Given the description of an element on the screen output the (x, y) to click on. 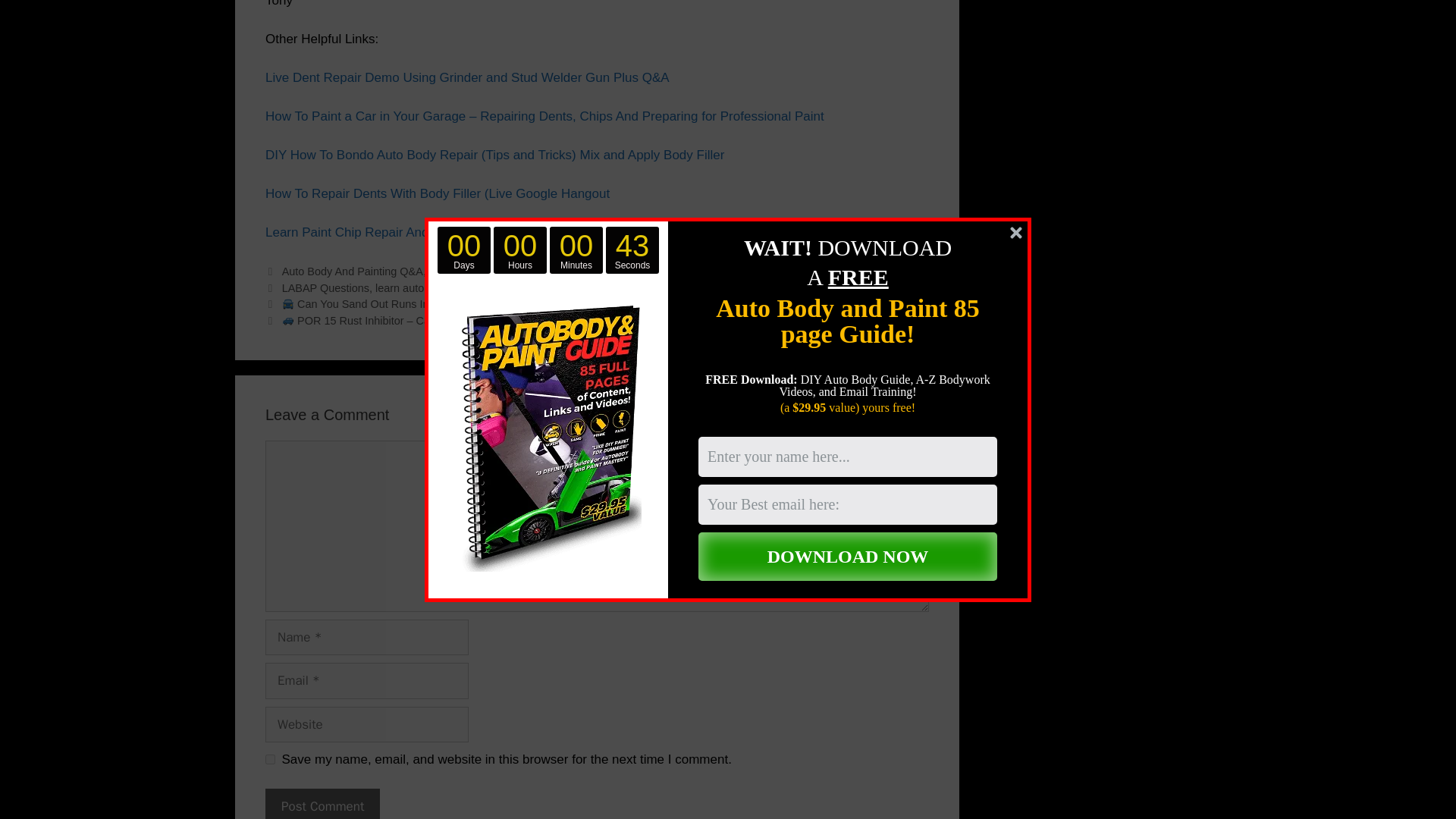
Post Comment (322, 803)
